Given the description of an element on the screen output the (x, y) to click on. 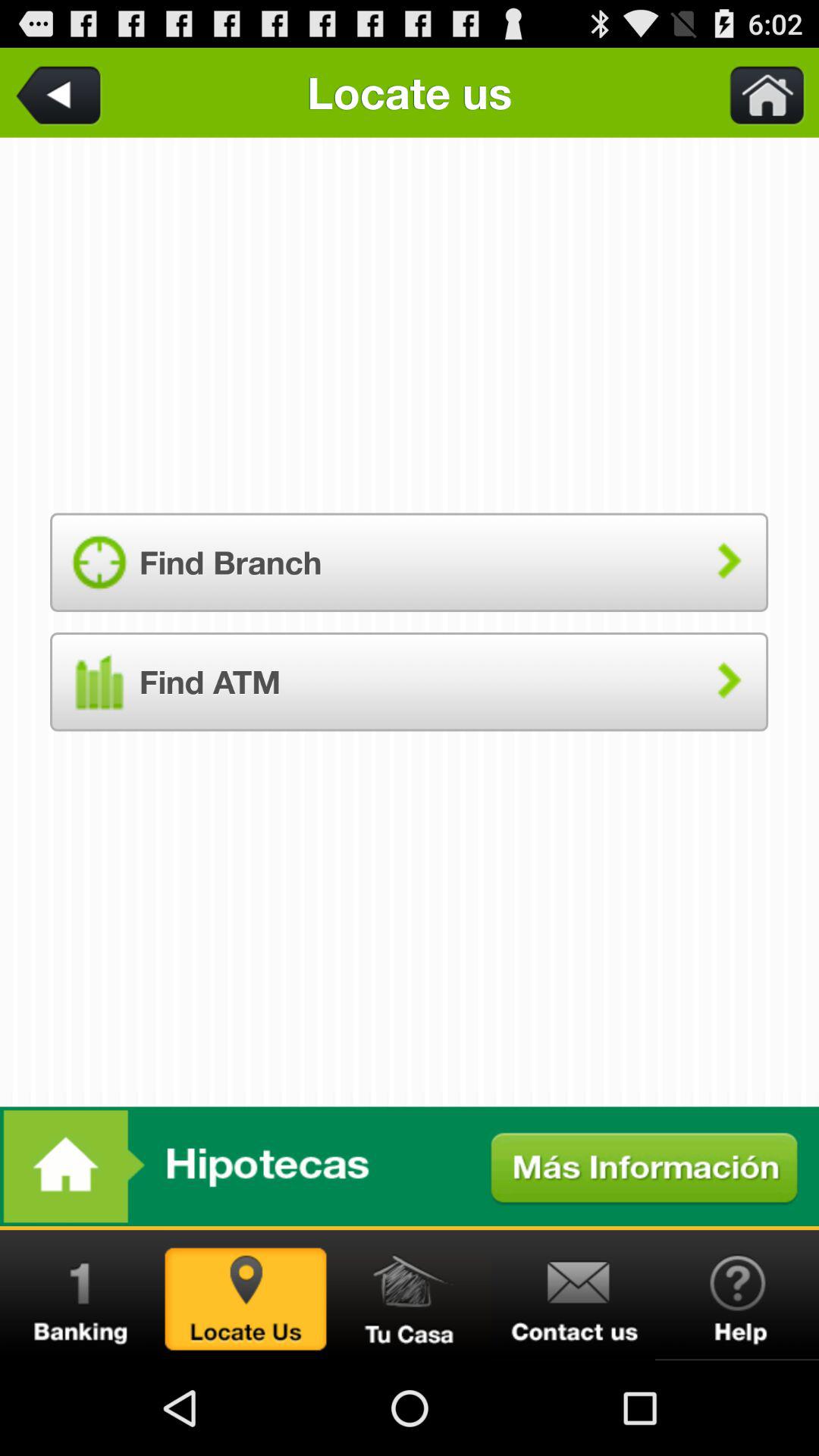
go home (757, 92)
